Given the description of an element on the screen output the (x, y) to click on. 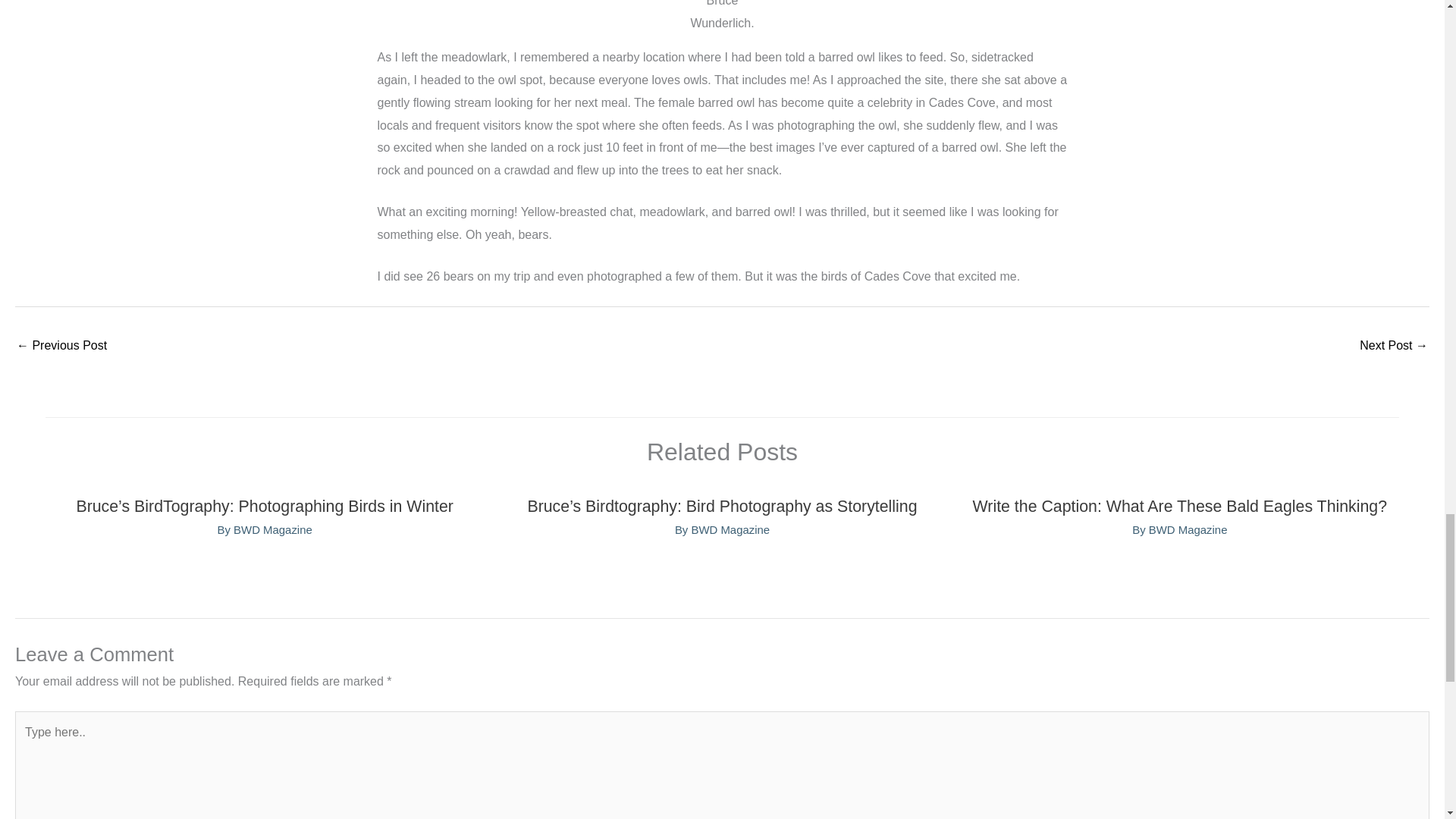
Spotlight on Ontario (61, 346)
View all posts by BWD Magazine (730, 529)
View all posts by BWD Magazine (1187, 529)
View all posts by BWD Magazine (272, 529)
My "Dad Bird" (1393, 346)
